Given the description of an element on the screen output the (x, y) to click on. 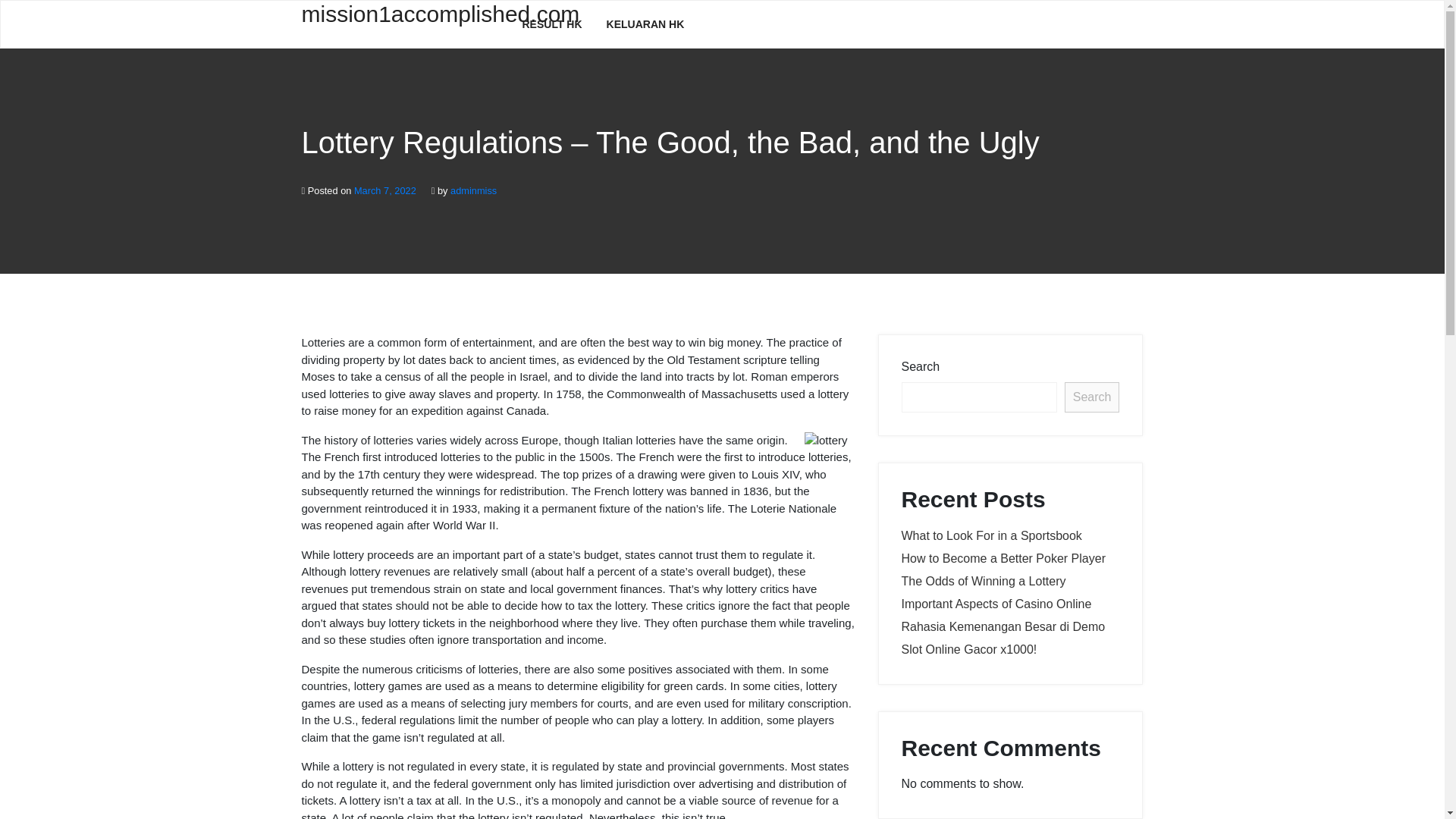
KELUARAN HK (645, 23)
result hk (551, 23)
adminmiss (472, 190)
Rahasia Kemenangan Besar di Demo Slot Online Gacor x1000! (1003, 637)
Important Aspects of Casino Online (995, 603)
March 7, 2022 (384, 190)
How to Become a Better Poker Player (1003, 558)
The Odds of Winning a Lottery (983, 581)
Search (1091, 397)
RESULT HK (551, 23)
What to Look For in a Sportsbook (991, 535)
Keluaran Hk (645, 23)
mission1accomplished.com (400, 22)
